Given the description of an element on the screen output the (x, y) to click on. 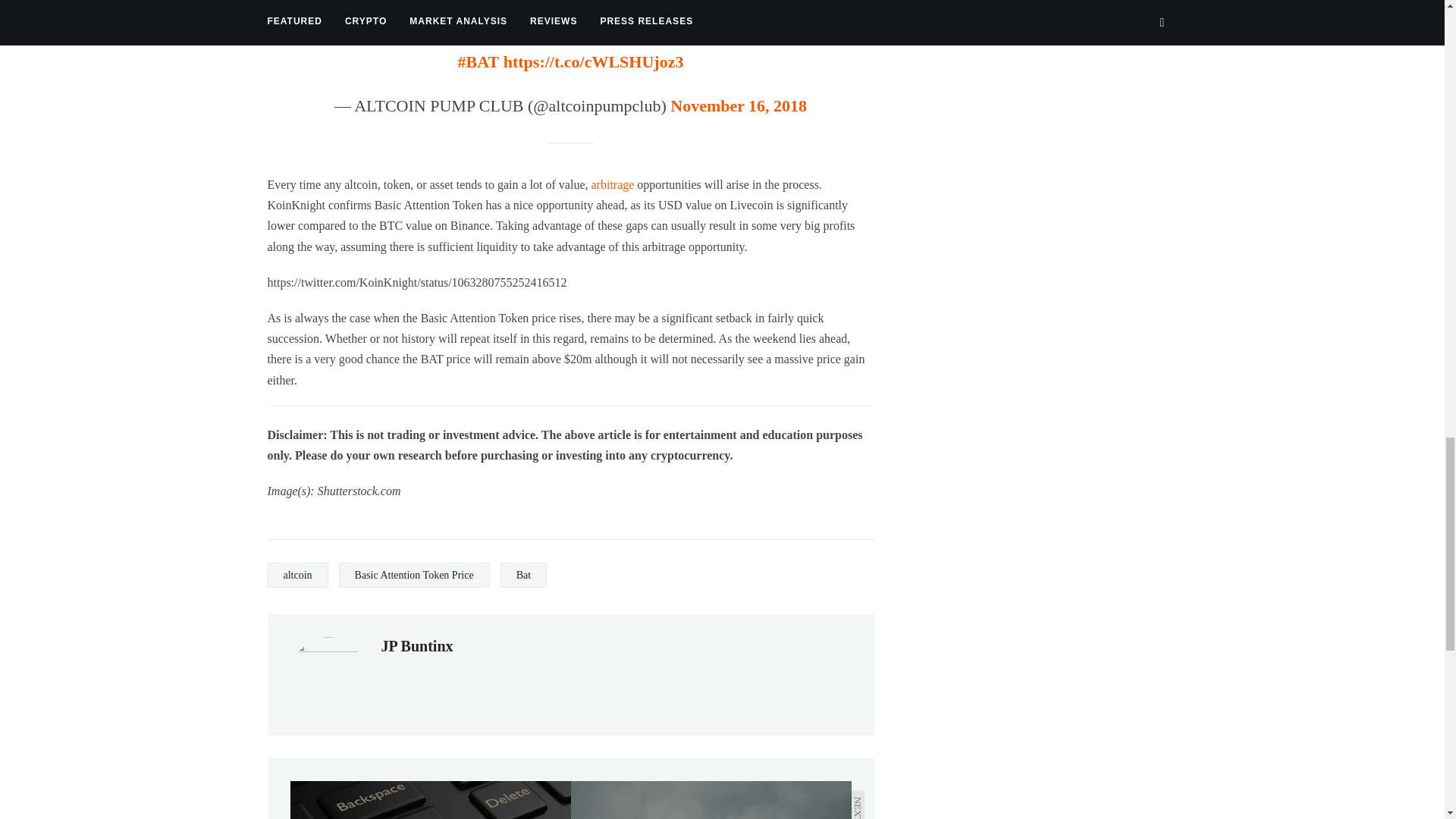
November 16, 2018 (737, 105)
Posts by JP Buntinx (416, 646)
arbitrage (614, 184)
altcoin (296, 575)
